Given the description of an element on the screen output the (x, y) to click on. 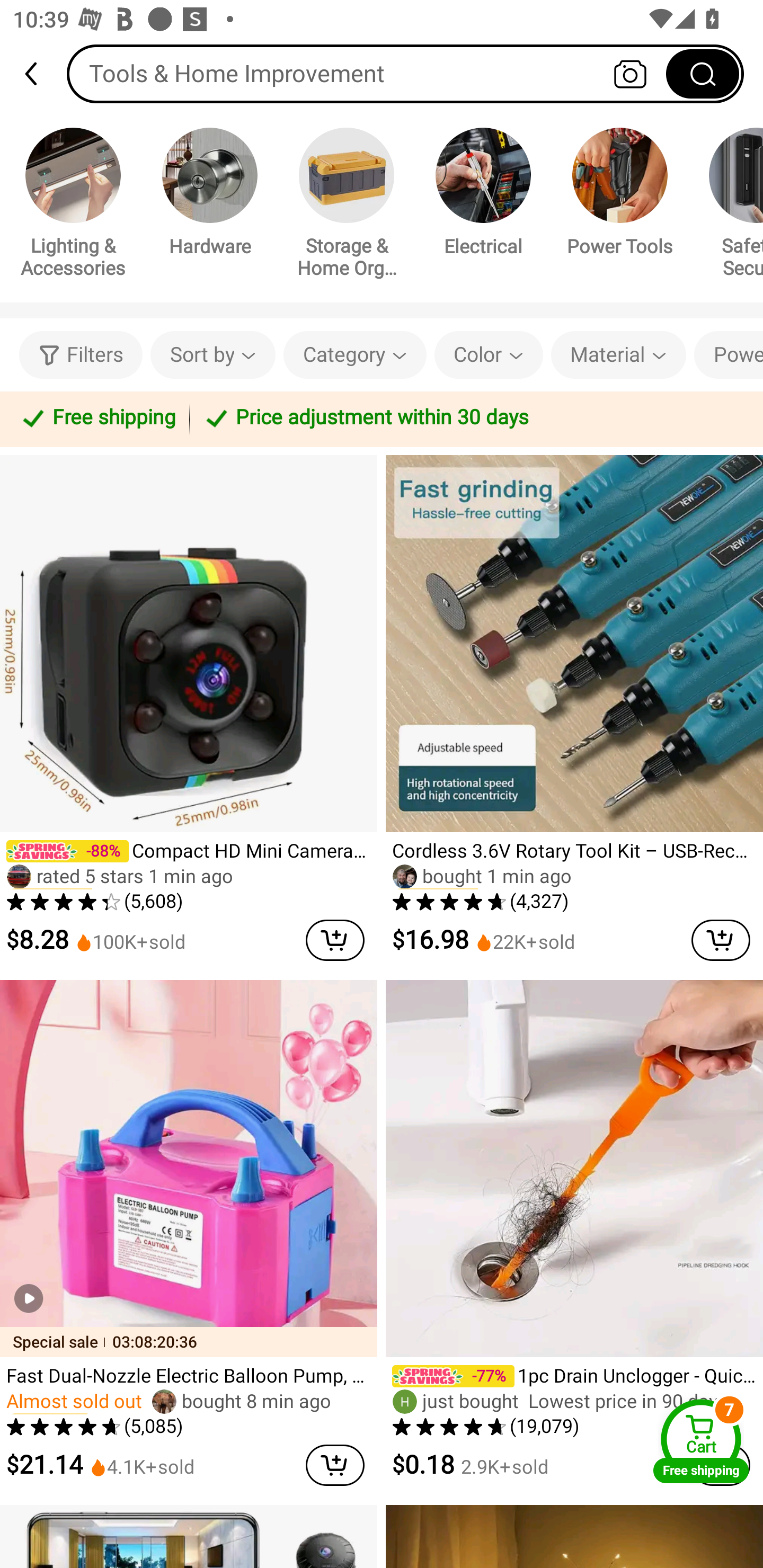
back (39, 73)
Tools & Home Improvement (405, 73)
Lighting & Accessories (73, 205)
Hardware (209, 195)
Storage & Home Organization (346, 205)
Electrical (483, 195)
Power Tools (619, 195)
Filters (80, 354)
Sort by (212, 354)
Category (354, 354)
Color (488, 354)
Material (617, 354)
Free shipping (97, 418)
Price adjustment within 30 days (472, 418)
cart delete (334, 939)
cart delete (720, 939)
Cart Free shipping Cart (701, 1440)
cart delete (334, 1465)
